Given the description of an element on the screen output the (x, y) to click on. 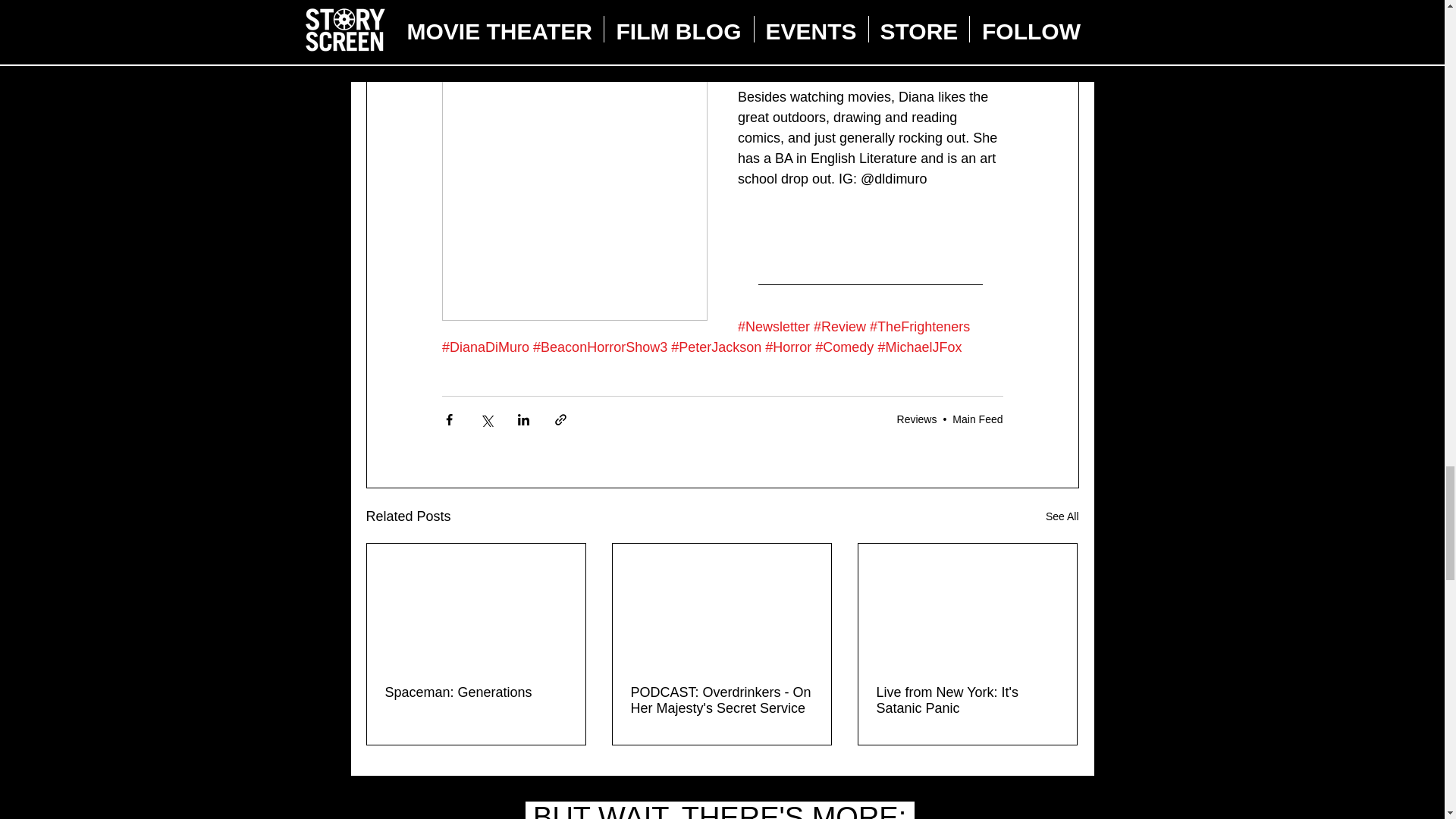
See All (1061, 516)
Main Feed (977, 419)
Spaceman: Generations (476, 692)
Reviews (916, 419)
PODCAST: Overdrinkers - On Her Majesty's Secret Service (721, 700)
Live from New York: It's Satanic Panic (967, 700)
